Given the description of an element on the screen output the (x, y) to click on. 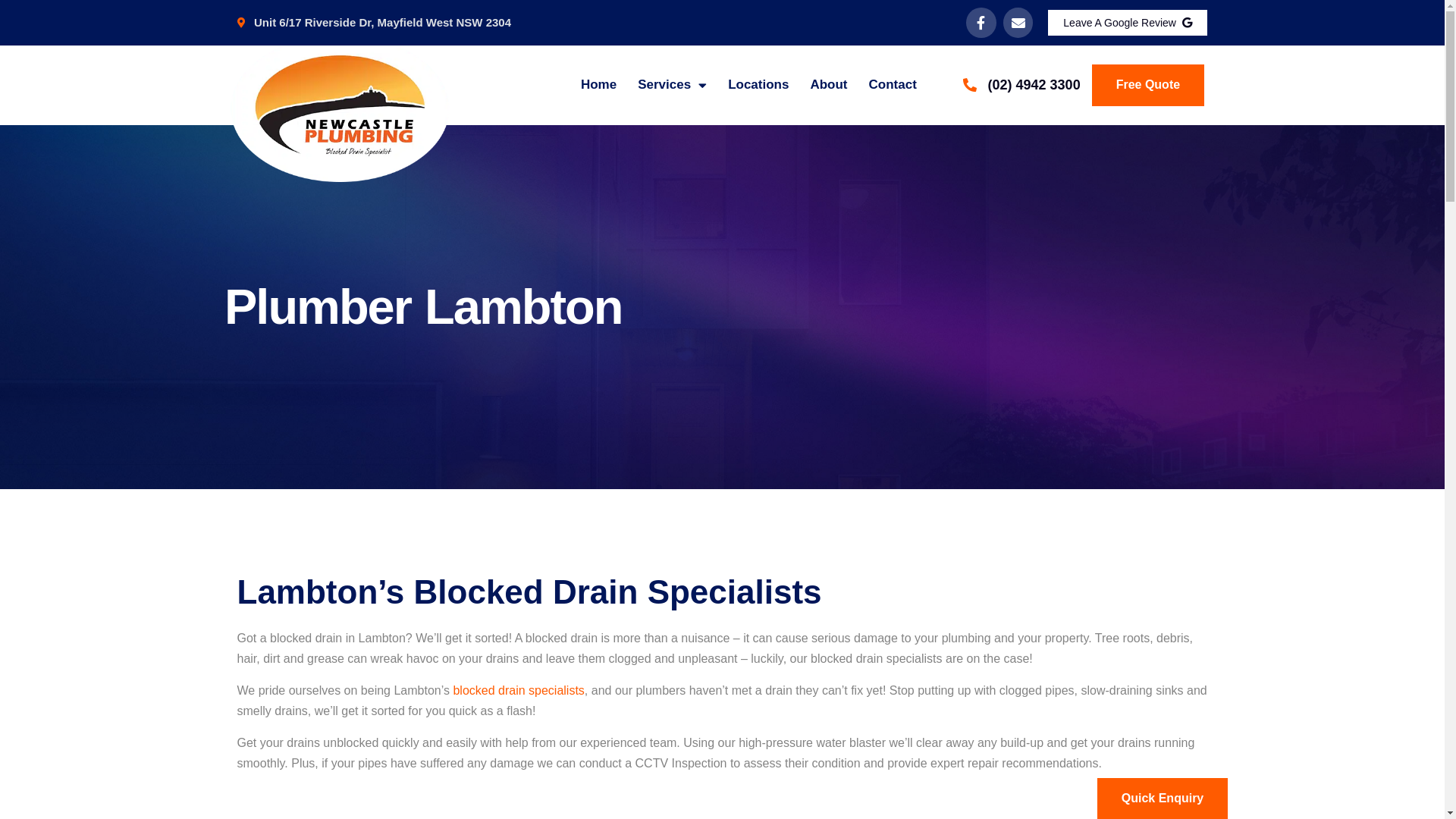
Contact Element type: text (892, 84)
Free Quote Element type: text (1148, 84)
Locations Element type: text (758, 84)
Home Element type: text (598, 84)
(02) 4942 3300 Element type: text (1020, 85)
blocked drain specialists Element type: text (517, 690)
Leave A Google Review Element type: text (1127, 22)
Services Element type: text (671, 84)
About Element type: text (828, 84)
